Given the description of an element on the screen output the (x, y) to click on. 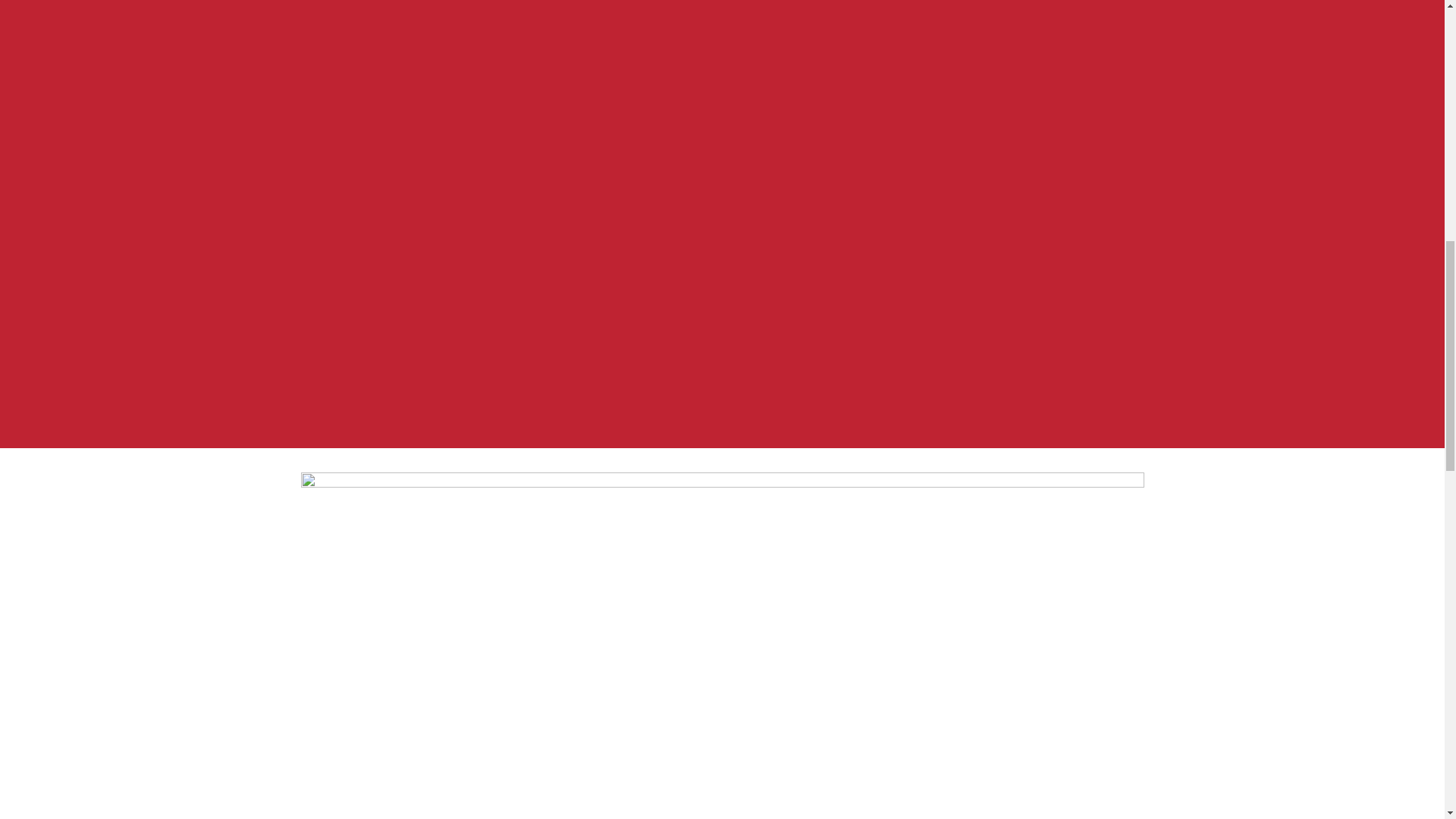
Accept (1274, 324)
